Given the description of an element on the screen output the (x, y) to click on. 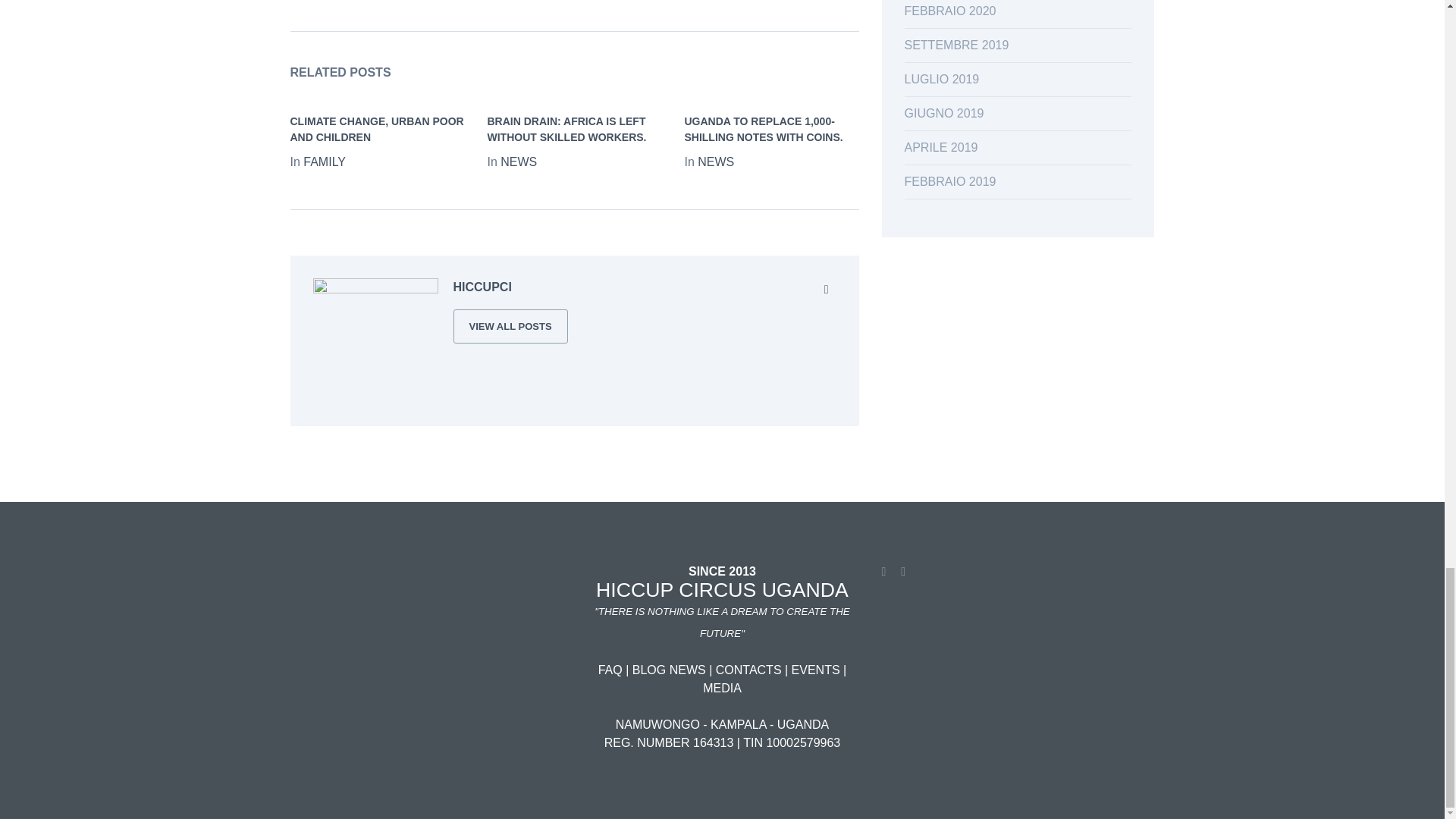
Permalink to CLIMATE CHANGE, URBAN POOR AND CHILDREN (376, 129)
NEWS (518, 161)
FAMILY (324, 161)
NEWS (715, 161)
UGANDA TO REPLACE 1,000-SHILLING NOTES WITH COINS. (763, 129)
CLIMATE CHANGE, URBAN POOR AND CHILDREN (376, 129)
All posts by author (509, 326)
VIEW ALL POSTS (509, 326)
